Given the description of an element on the screen output the (x, y) to click on. 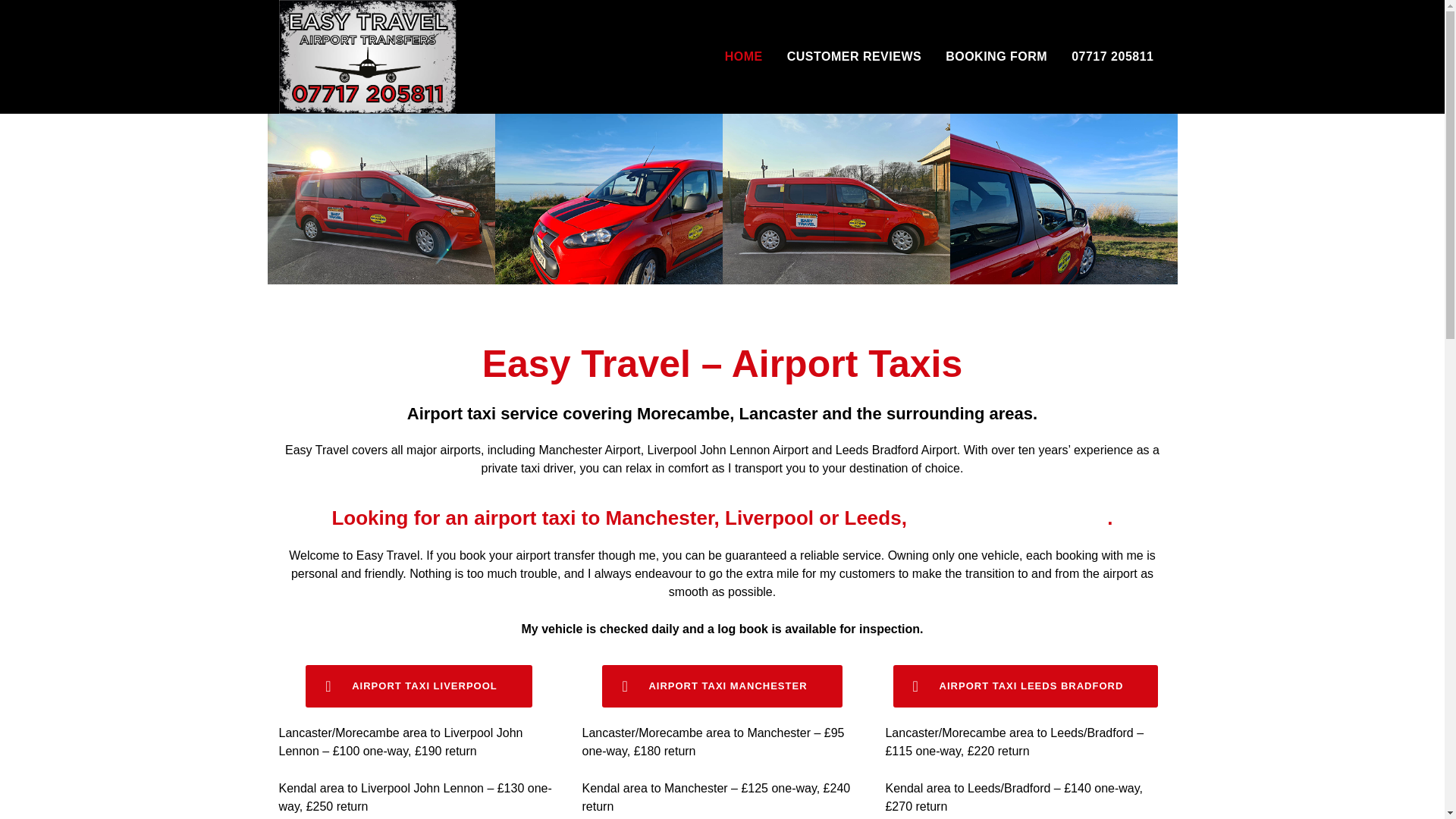
AIRPORT TAXI MANCHESTER (721, 686)
AIRPORT TAXI LIVERPOOL (418, 686)
Booking Form (418, 686)
Booking Form (1025, 686)
Booking Form (721, 686)
BOOKING FORM (995, 56)
AIRPORT TAXI LEEDS BRADFORD (1025, 686)
Easy Travel Airport Taxis Lancaster (368, 56)
click here to book now (1009, 517)
